Given the description of an element on the screen output the (x, y) to click on. 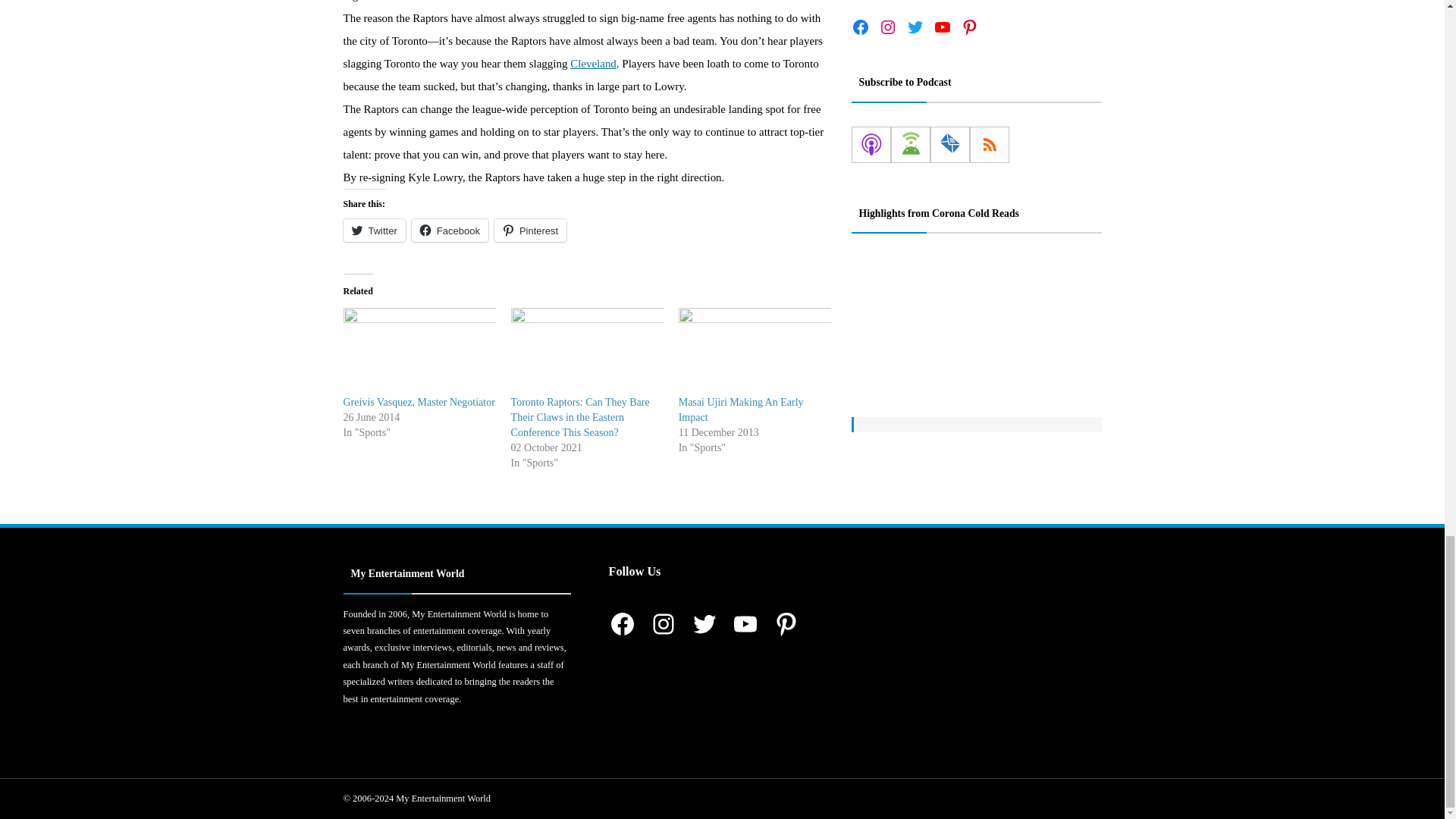
Click to share on Pinterest (530, 230)
Greivis Vasquez, Master Negotiator (418, 350)
Twitter (373, 230)
Click to share on Facebook (449, 230)
Masai Ujiri Making An Early Impact (740, 409)
Pinterest (530, 230)
Greivis Vasquez, Master Negotiator (418, 401)
